Given the description of an element on the screen output the (x, y) to click on. 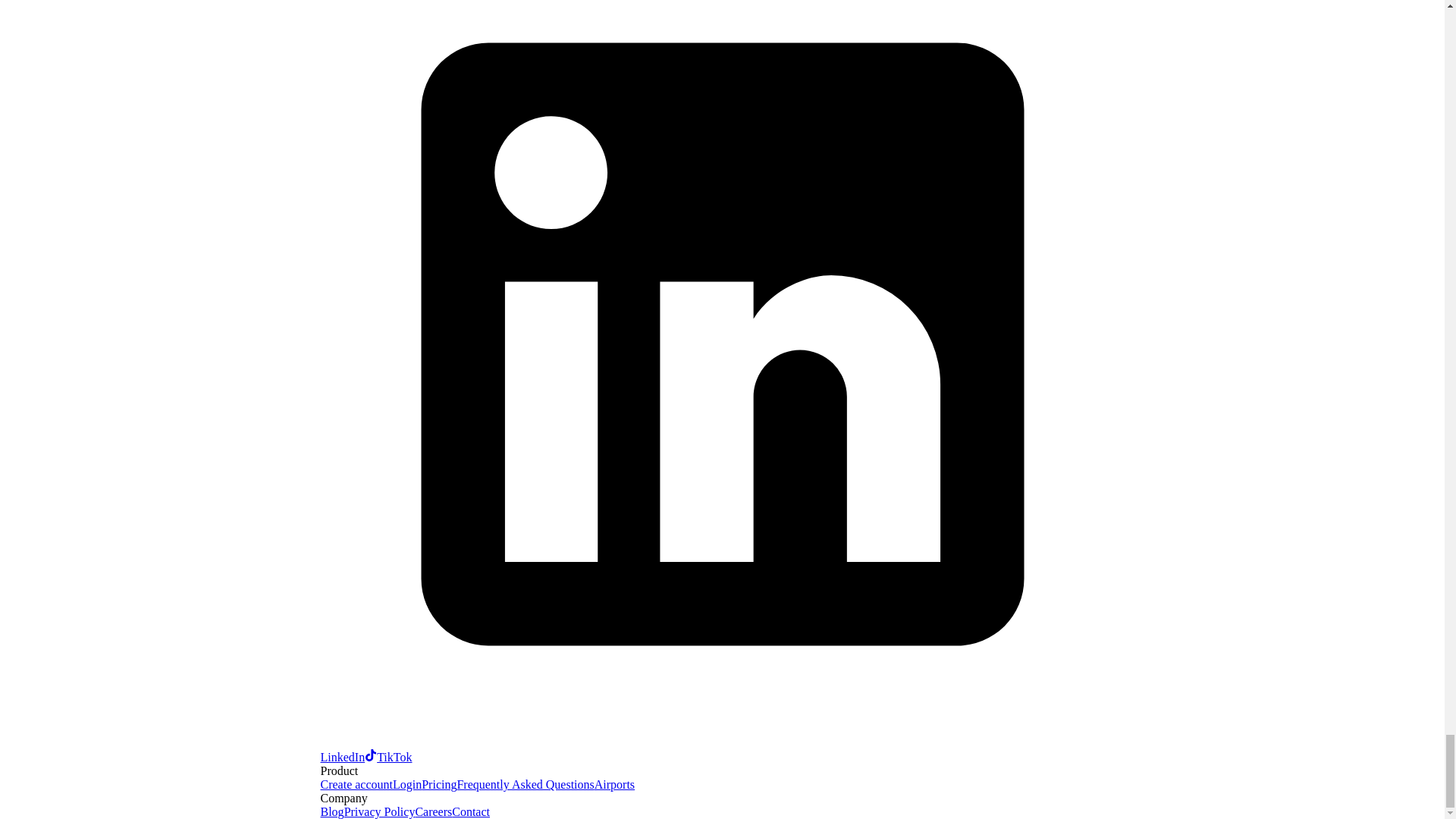
Privacy Policy (378, 811)
Airports (614, 784)
Login (407, 784)
Contact (470, 811)
Careers (432, 811)
Pricing (439, 784)
LinkedIn (722, 749)
TikTok (388, 757)
Blog (331, 811)
Frequently Asked Questions (525, 784)
Create account (356, 784)
